Given the description of an element on the screen output the (x, y) to click on. 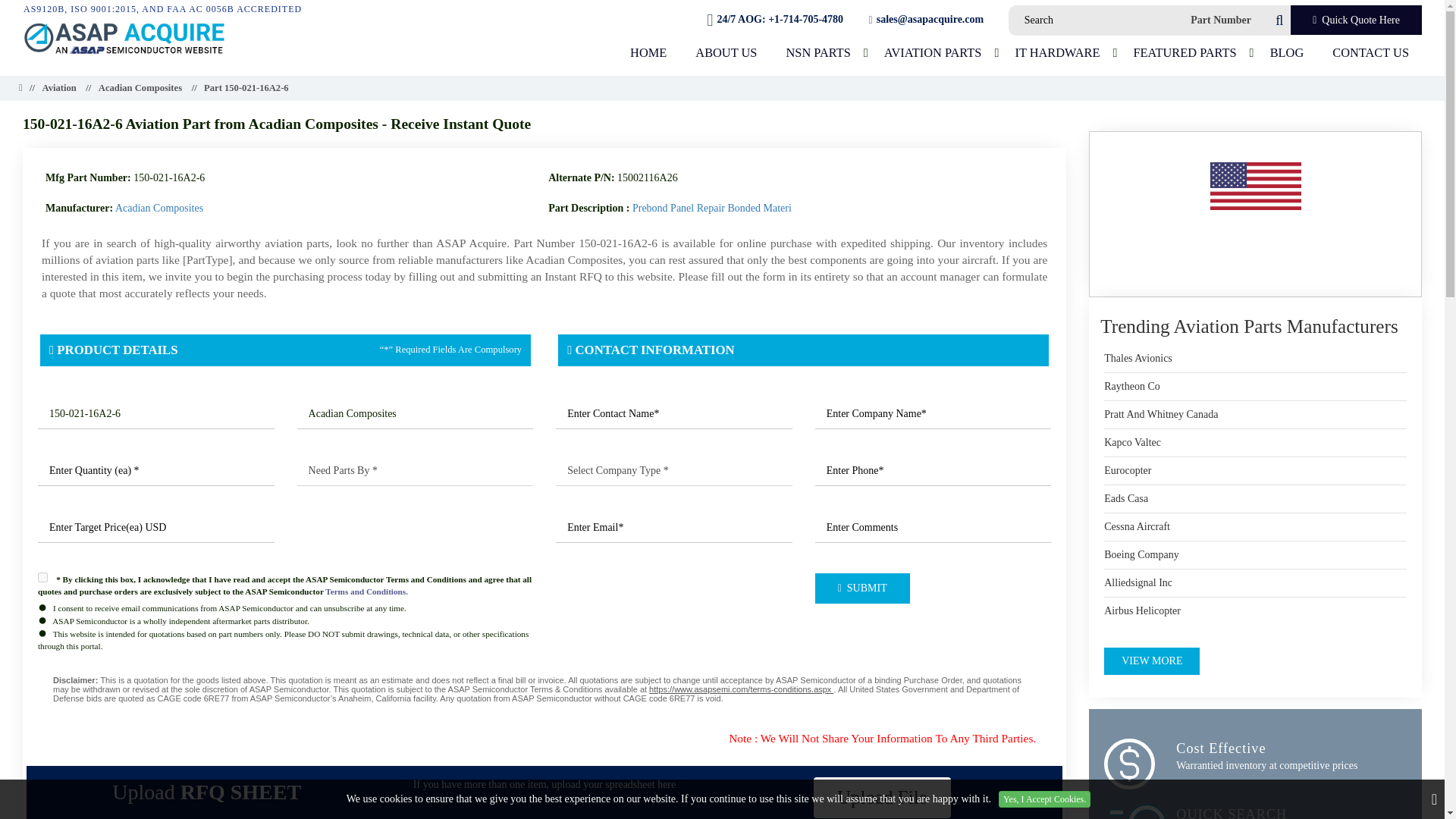
Acadian Composites (415, 413)
HOME (648, 52)
Pratt And Whitney Canada (1160, 414)
Boeing Company (1140, 554)
Cessna Aircraft (1136, 526)
Raytheon Co (1131, 386)
Eurocopter (1127, 470)
disclaimer (544, 689)
Alliedsignal Inc (1137, 582)
AVIATION PARTS (932, 52)
